Given the description of an element on the screen output the (x, y) to click on. 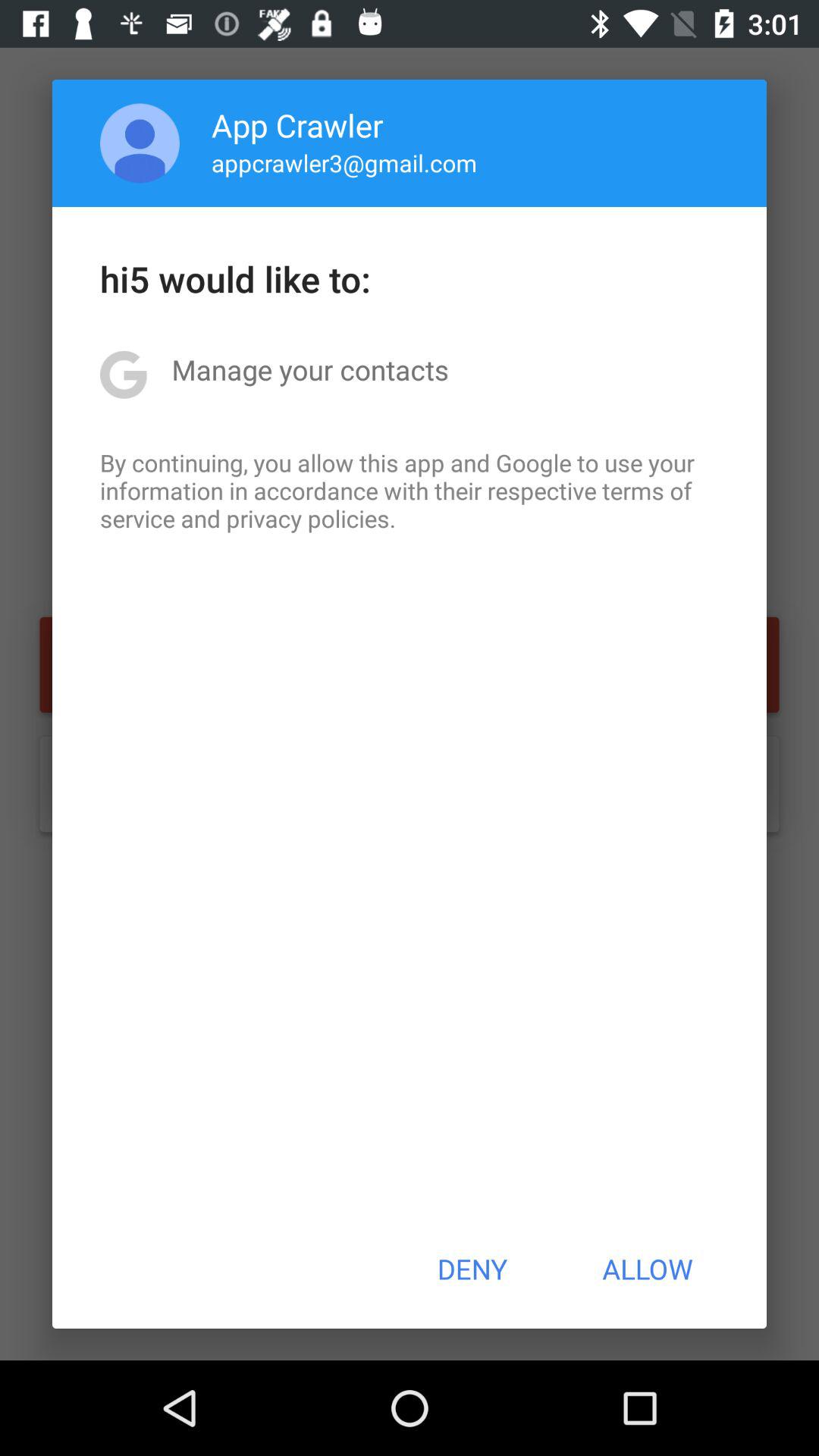
flip until manage your contacts item (309, 369)
